Given the description of an element on the screen output the (x, y) to click on. 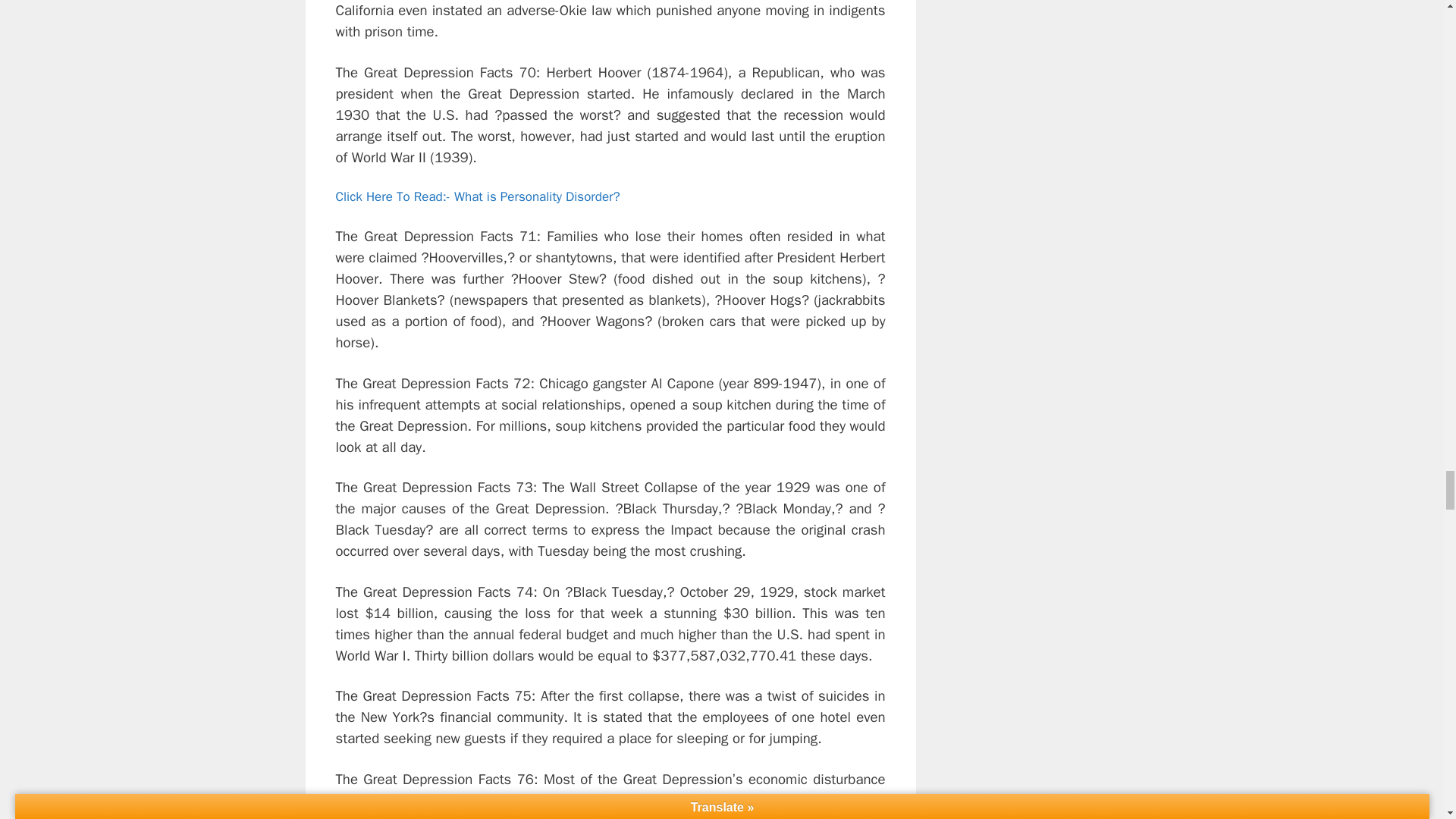
Click Here To Read:- What is Personality Disorder? (477, 196)
